Given the description of an element on the screen output the (x, y) to click on. 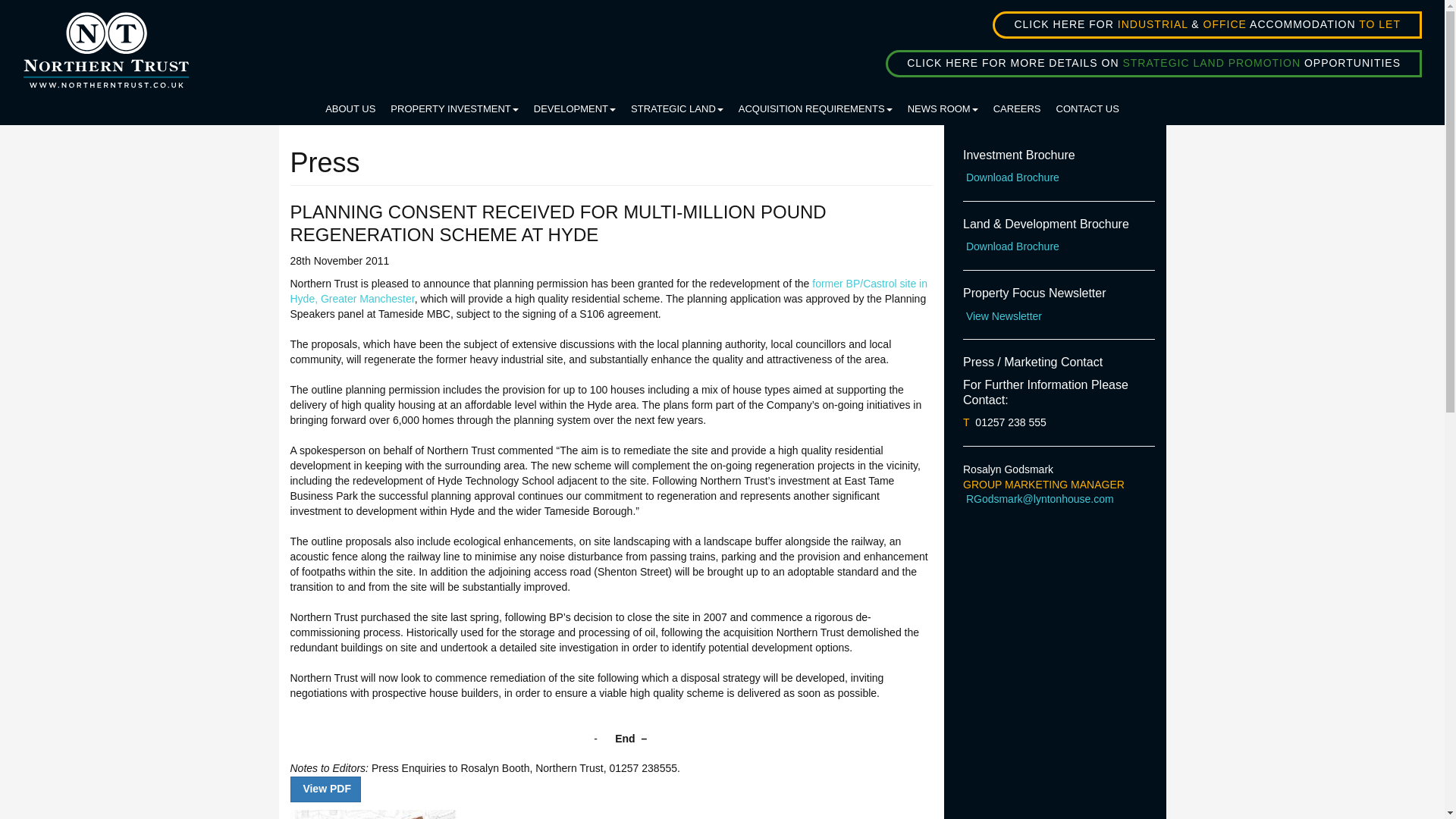
 Download Brochure (1010, 246)
ACQUISITION REQUIREMENTS (814, 104)
ABOUT US (349, 104)
PROPERTY INVESTMENT (453, 104)
 View Newsletter (1002, 316)
STRATEGIC LAND (676, 104)
 View PDF (324, 789)
CONTACT US (1087, 104)
CAREERS (1016, 104)
DEVELOPMENT (574, 104)
 Download Brochure (1010, 177)
NEWS ROOM (942, 104)
